Given the description of an element on the screen output the (x, y) to click on. 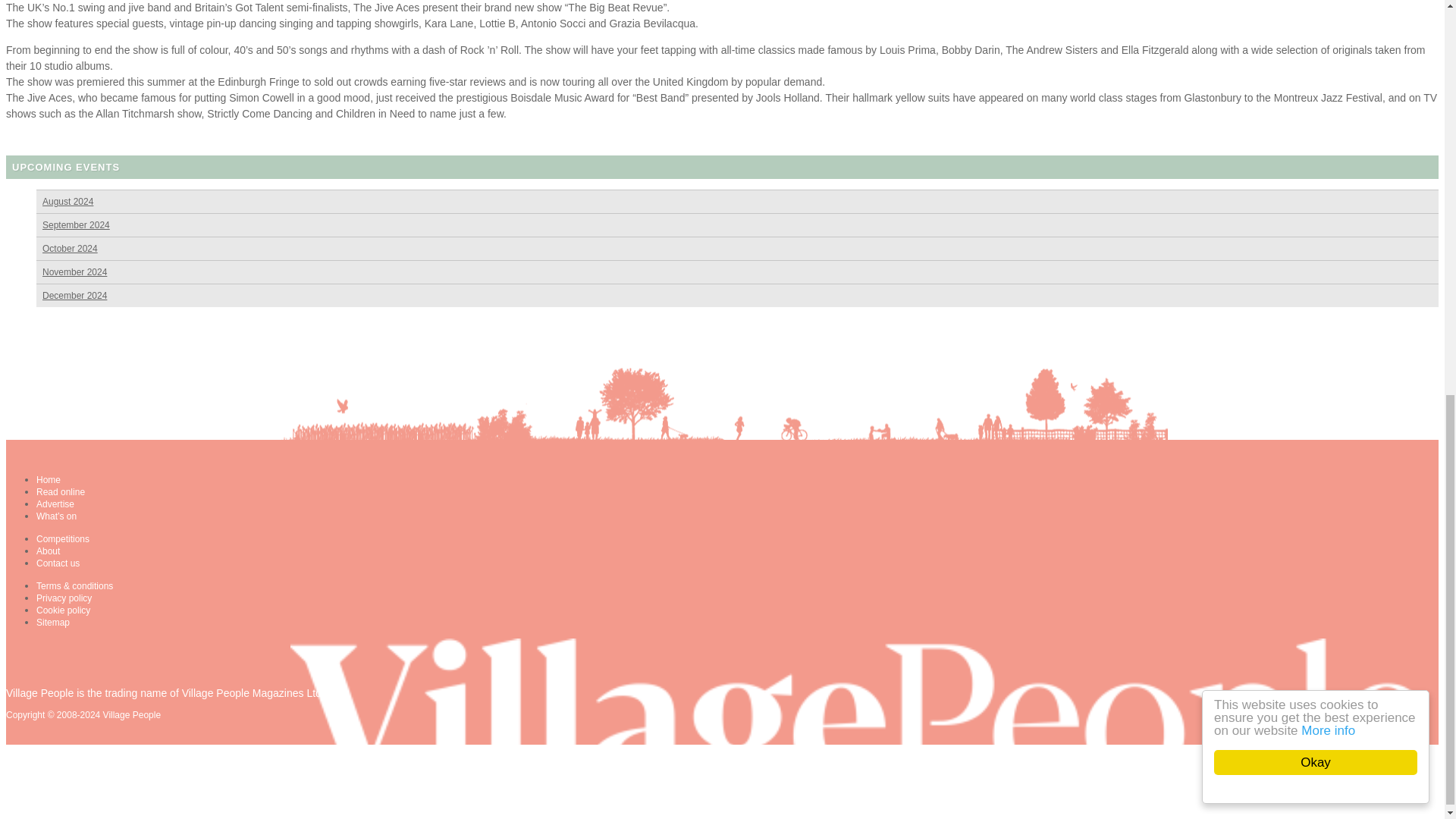
Okay (1329, 3)
Cookie Consent plugin for the EU cookie law (1327, 20)
